Given the description of an element on the screen output the (x, y) to click on. 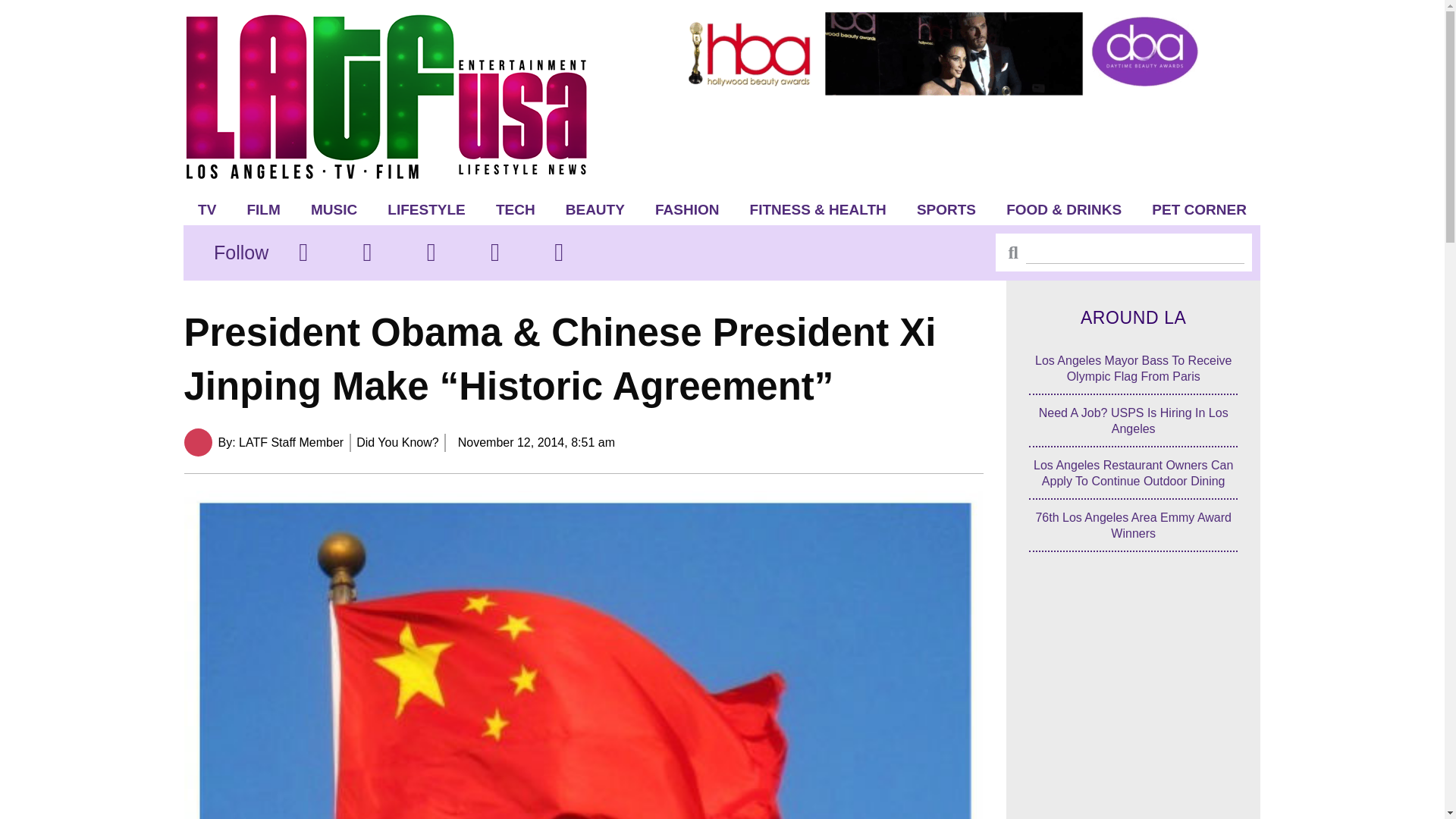
TV (207, 209)
LIFESTYLE (426, 209)
FASHION (687, 209)
TECH (515, 209)
FILM (263, 209)
BEAUTY (595, 209)
PET CORNER (1199, 209)
MUSIC (333, 209)
SPORTS (946, 209)
